Given the description of an element on the screen output the (x, y) to click on. 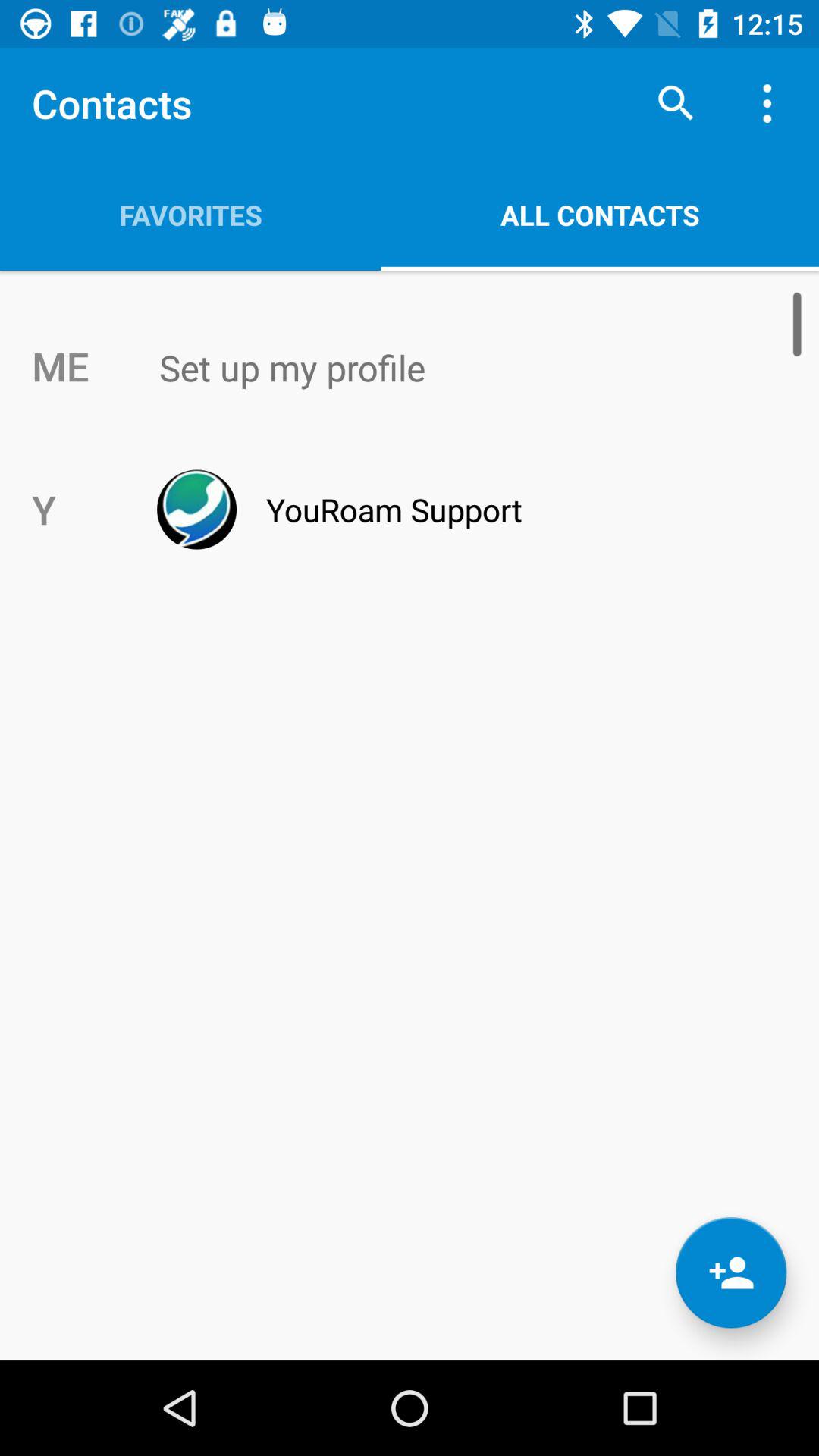
open item to the right of the favorites icon (600, 214)
